Given the description of an element on the screen output the (x, y) to click on. 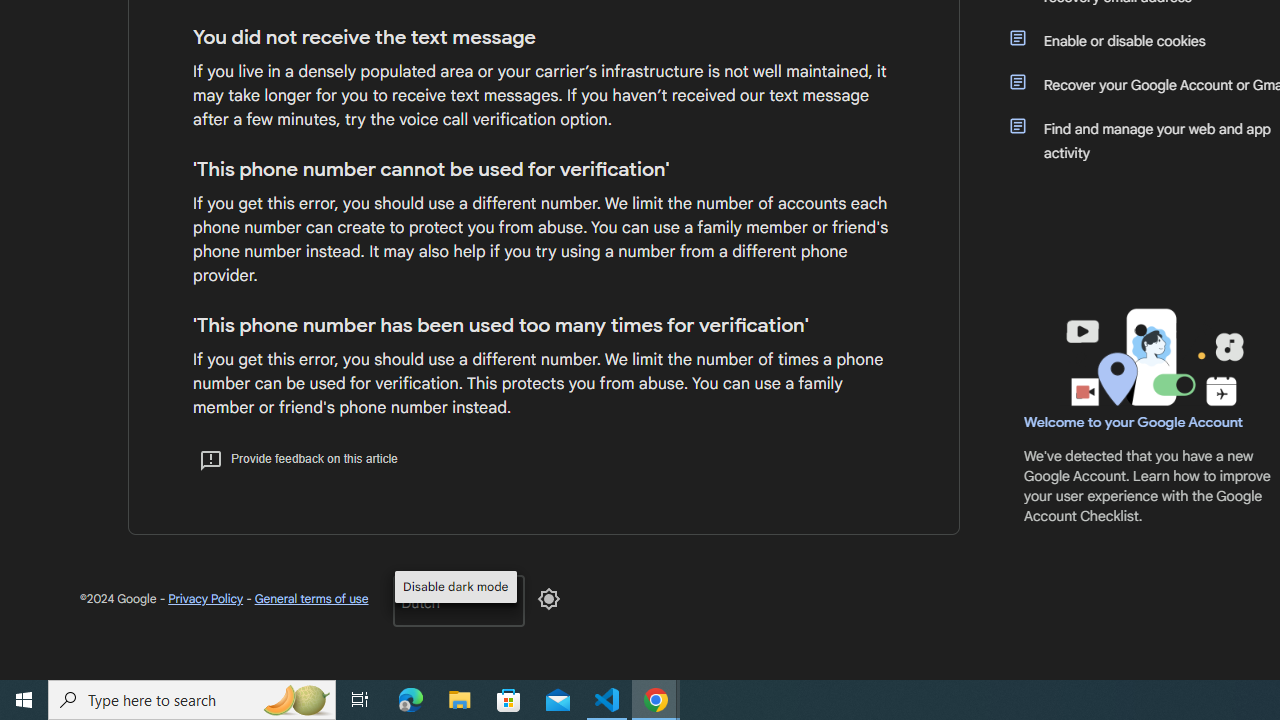
Welcome to your Google Account (1134, 422)
Provide feedback on this article (298, 458)
Disable dark mode (548, 598)
General terms of use (310, 598)
Learning Center home page image (1152, 357)
